Given the description of an element on the screen output the (x, y) to click on. 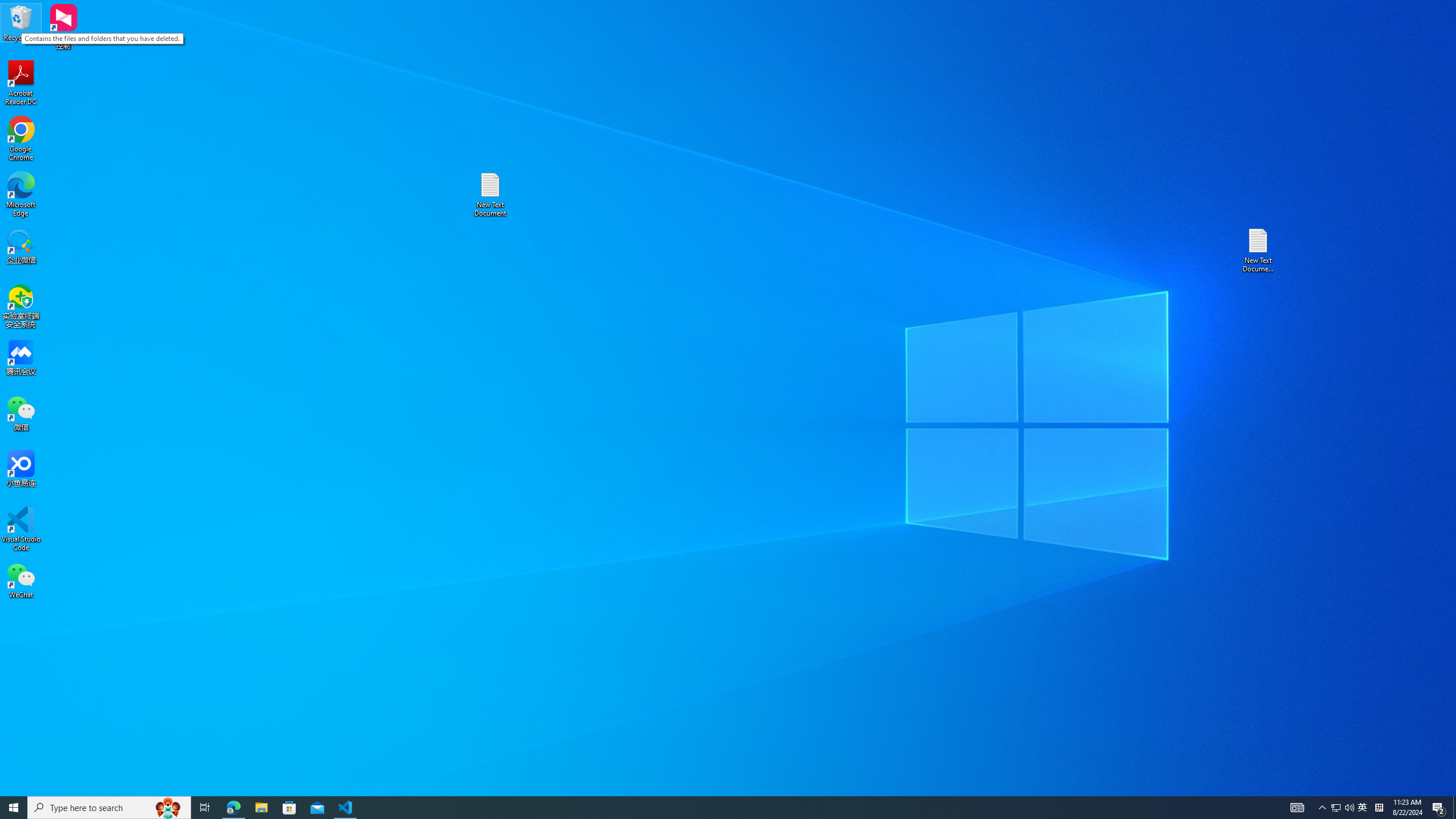
Notification Chevron (1322, 807)
Acrobat Reader DC (21, 82)
Search highlights icon opens search home window (167, 807)
WeChat (21, 580)
User Promoted Notification Area (1342, 807)
New Text Document (2) (1362, 807)
Visual Studio Code (1258, 250)
Q2790: 100% (21, 528)
Google Chrome (1349, 807)
Show desktop (21, 138)
